Given the description of an element on the screen output the (x, y) to click on. 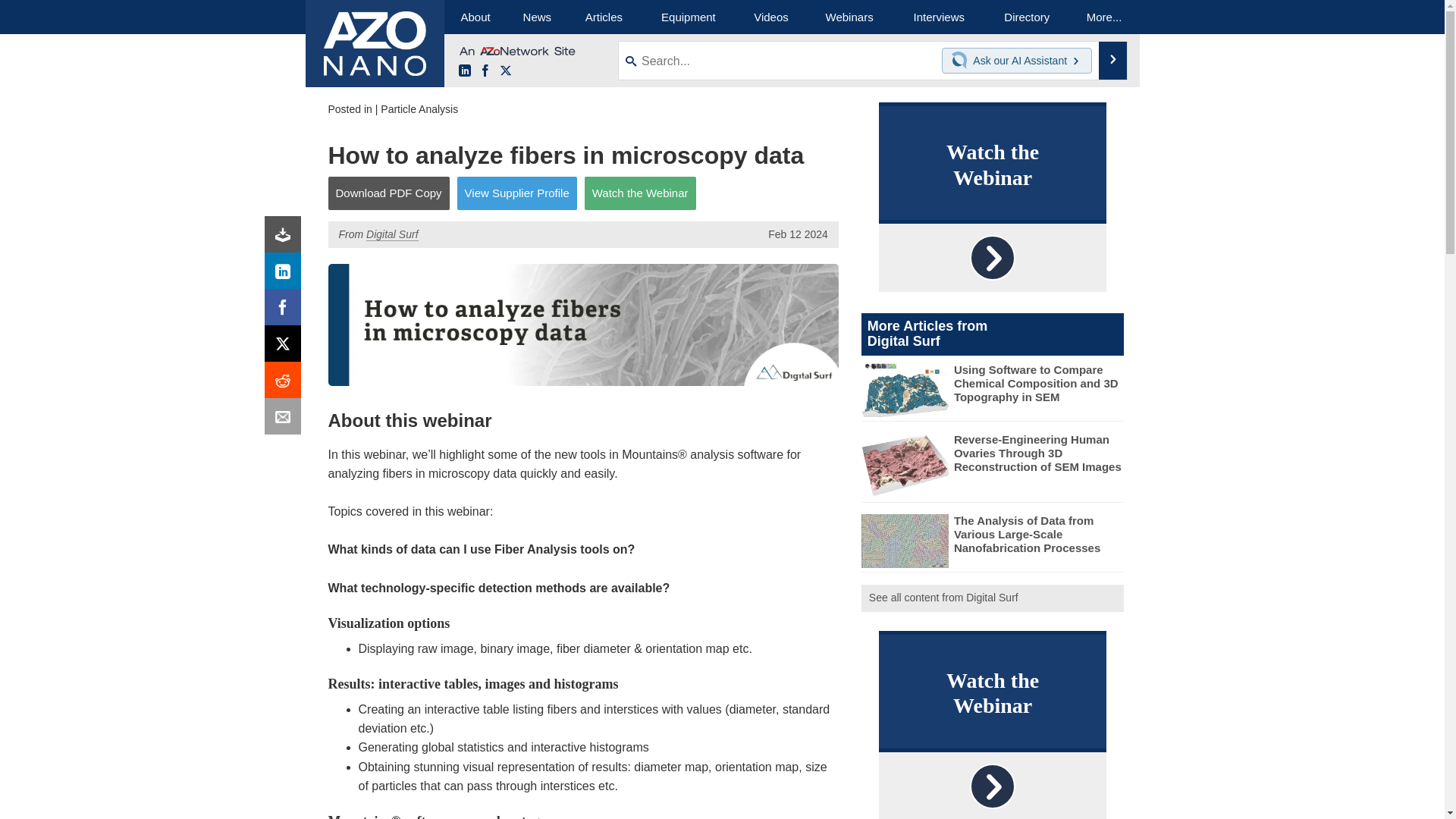
Facebook (285, 311)
Interviews (939, 17)
X (285, 348)
Chat with our AI Assistant Ask our AI Assistant (1017, 60)
Equipment (688, 17)
Download PDF copy (285, 238)
Chat with our AI Assistant (962, 60)
Directory (1026, 17)
Reddit (285, 384)
Email (285, 420)
